Given the description of an element on the screen output the (x, y) to click on. 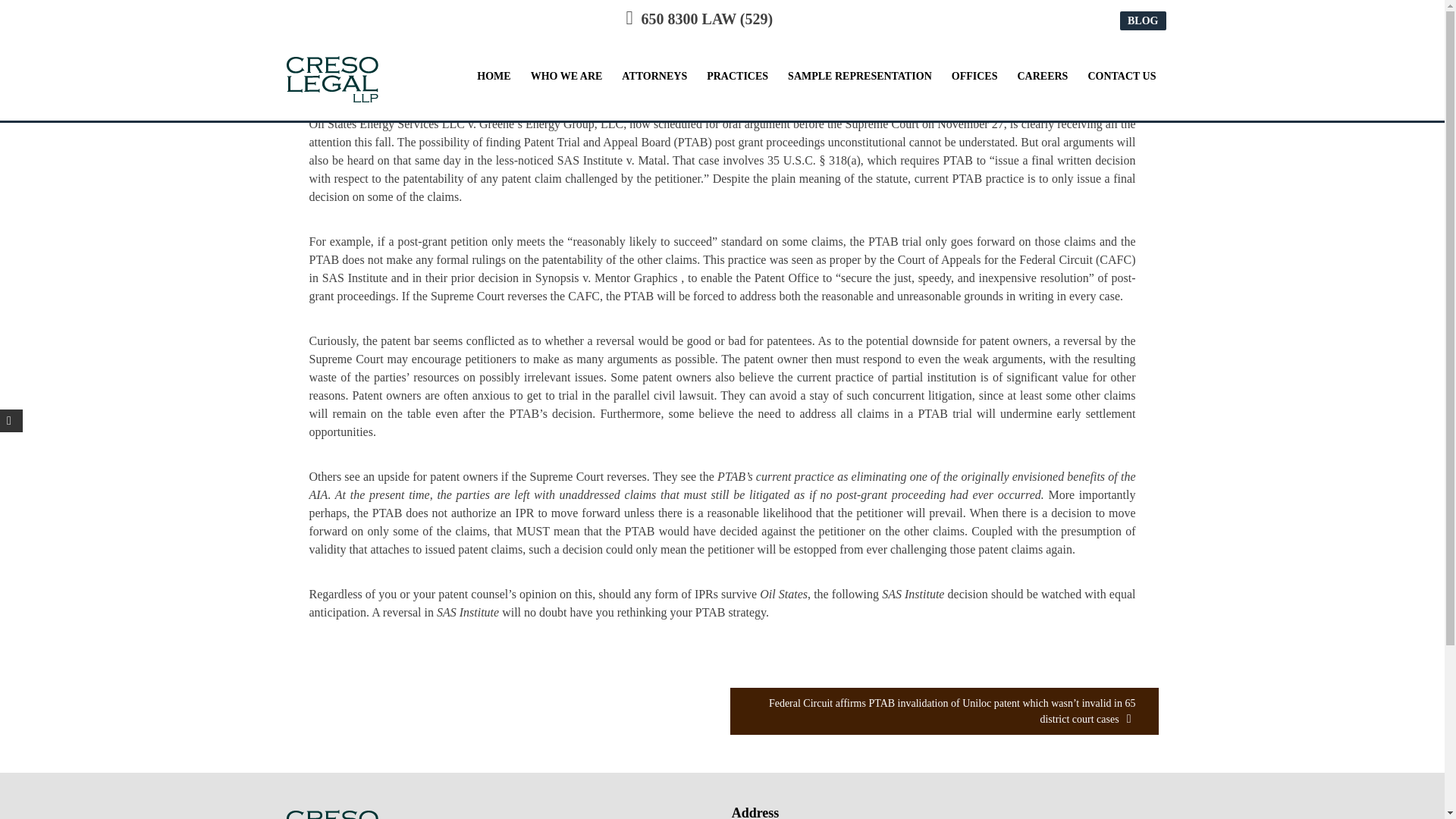
ATTORNEYS (654, 74)
CONTACT US (1121, 74)
BLOG (1142, 20)
SAMPLE REPRESENTATION (859, 74)
WHO WE ARE (566, 74)
CAREERS (1042, 74)
OFFICES (974, 74)
PRACTICES (737, 74)
HOME (493, 74)
